Given the description of an element on the screen output the (x, y) to click on. 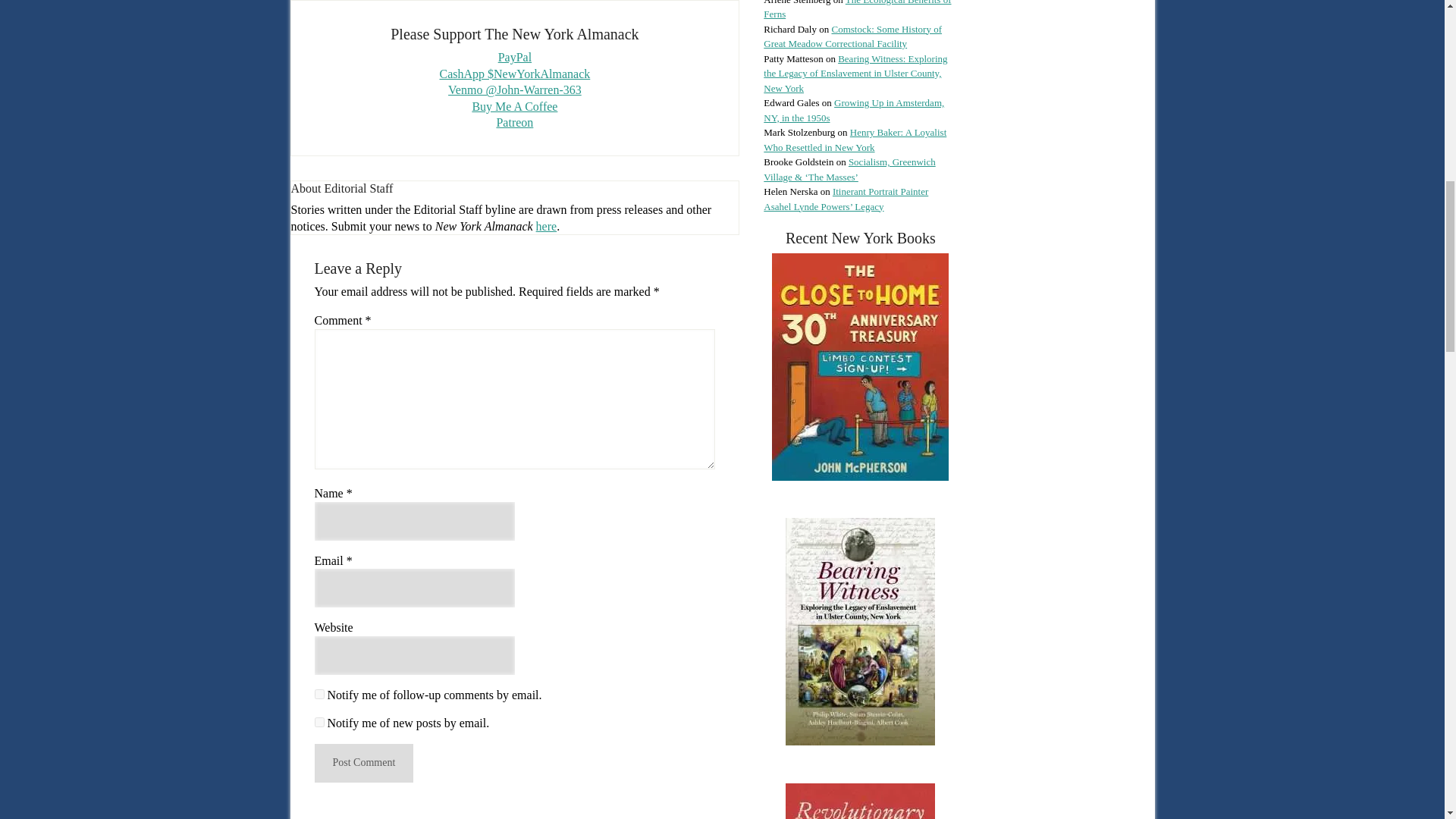
Patreon (514, 122)
Buy Me A Coffee (514, 106)
Post Comment (363, 762)
subscribe (318, 722)
PayPal (514, 56)
subscribe (318, 694)
